Given the description of an element on the screen output the (x, y) to click on. 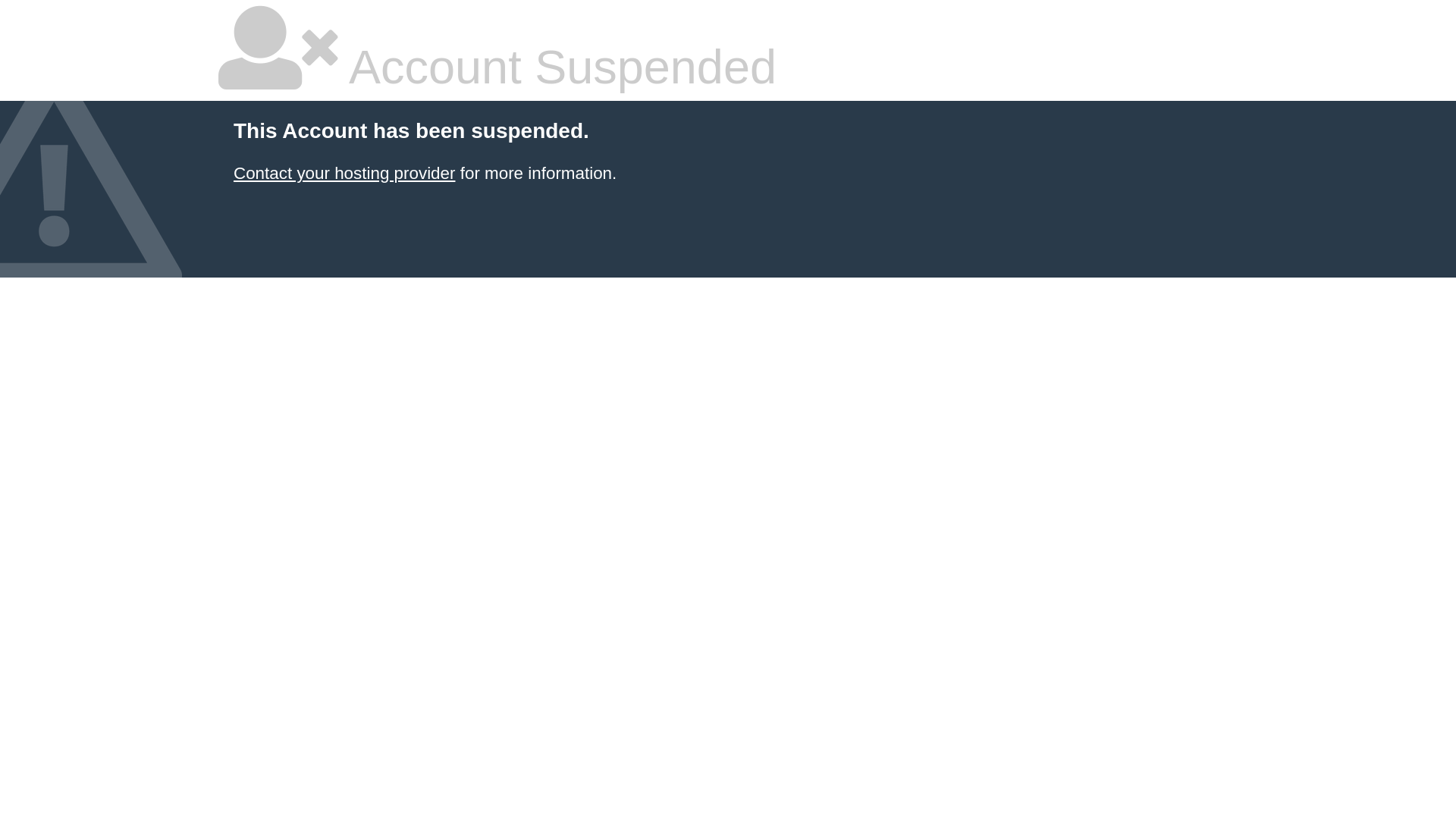
Contact your hosting provider Element type: text (344, 172)
